Given the description of an element on the screen output the (x, y) to click on. 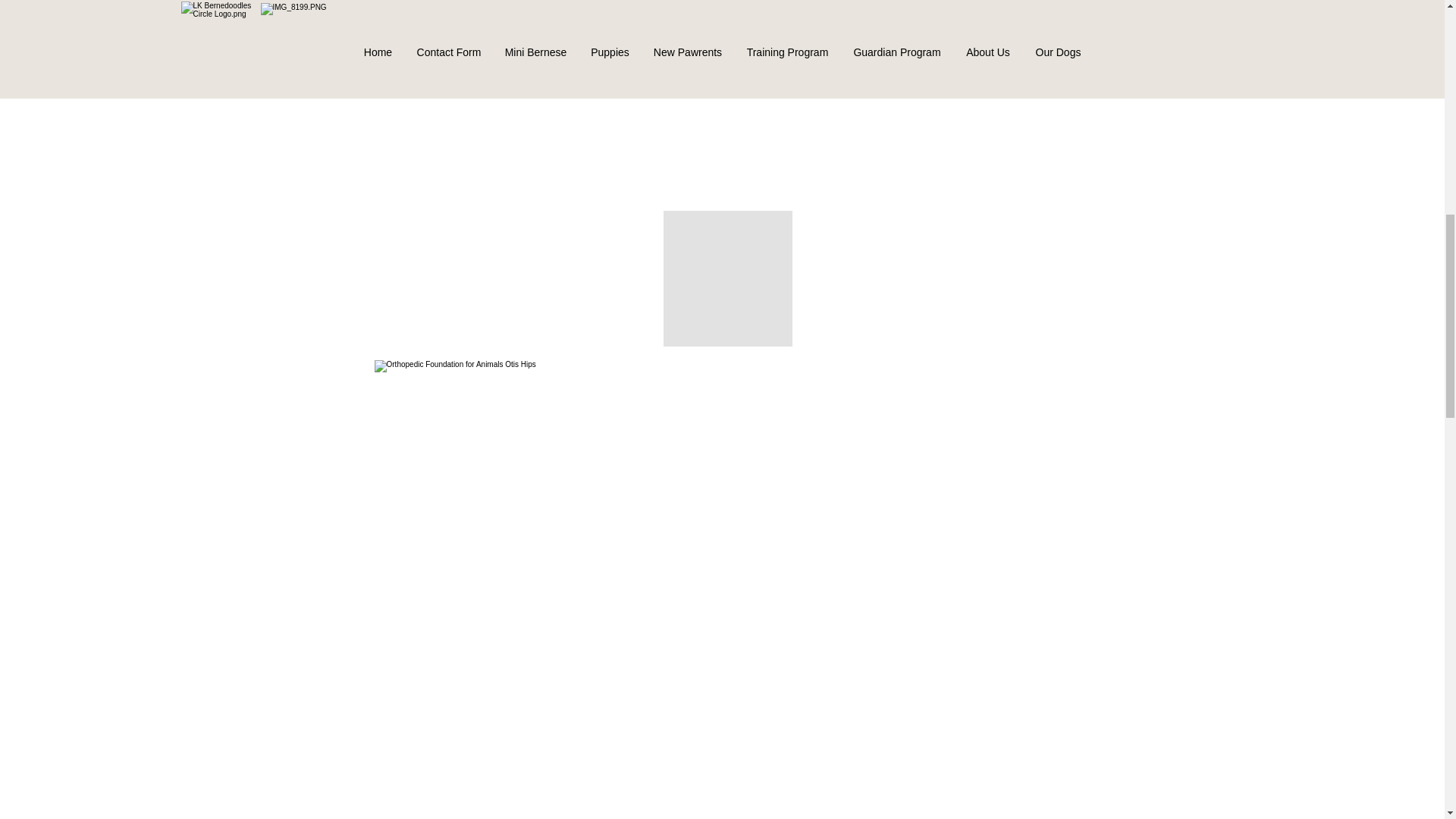
pawprintgenetics.png (721, 173)
